Given the description of an element on the screen output the (x, y) to click on. 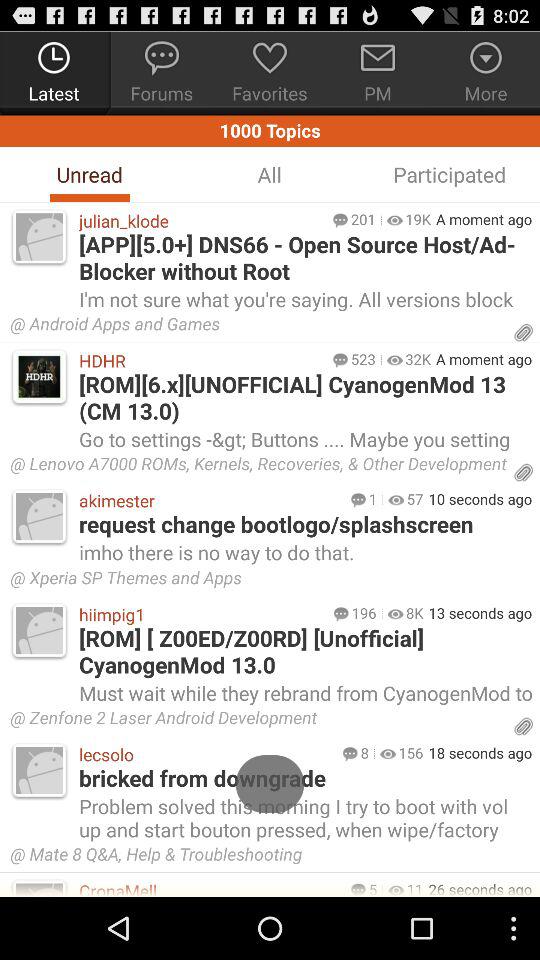
tap the icon above the 18 seconds ago icon (258, 720)
